Given the description of an element on the screen output the (x, y) to click on. 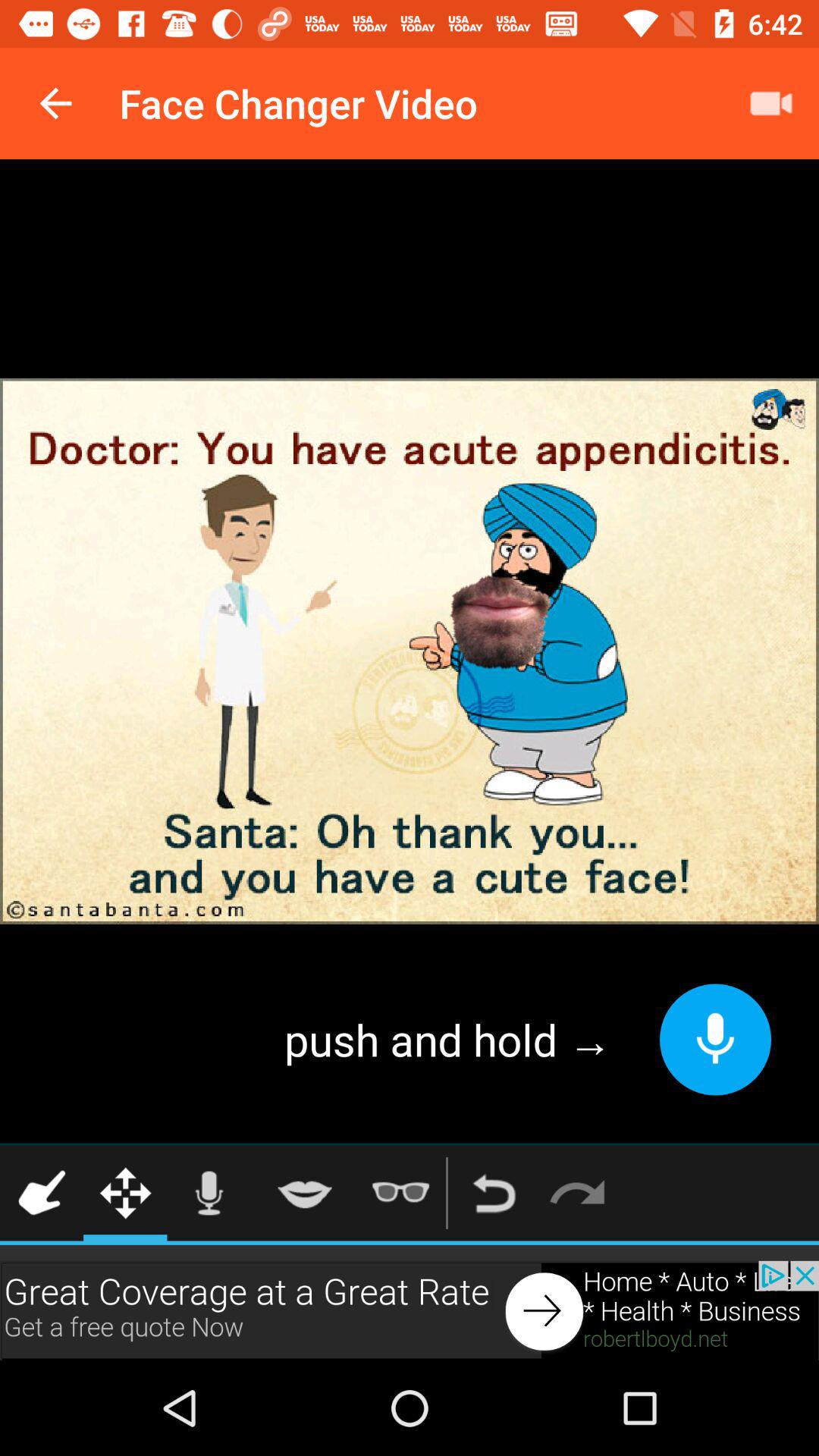
visit advertiser (409, 1310)
